Given the description of an element on the screen output the (x, y) to click on. 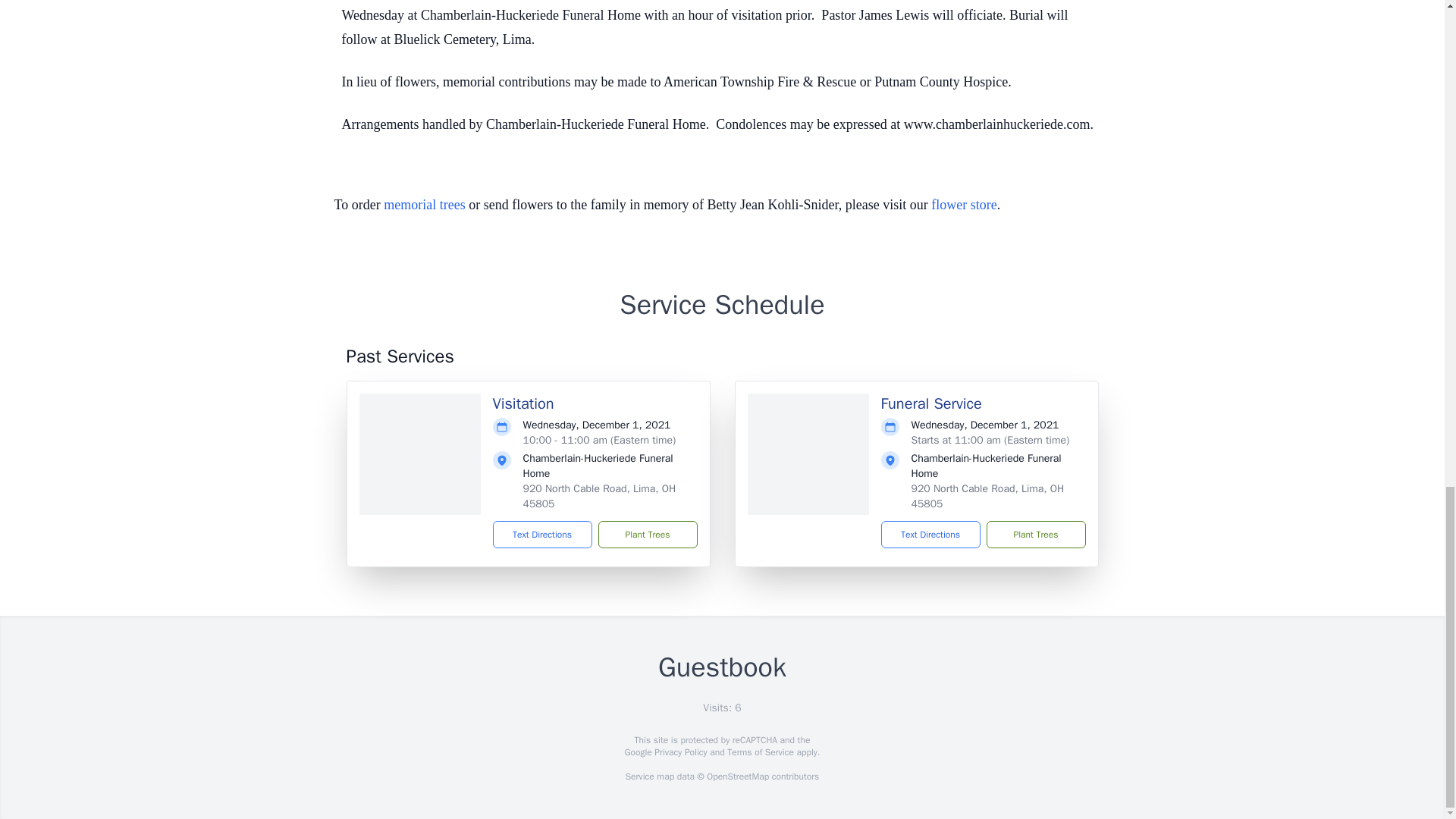
OpenStreetMap (737, 776)
Privacy Policy (679, 752)
Plant Trees (1034, 533)
Plant Trees (646, 533)
flower store (963, 204)
Terms of Service (759, 752)
Text Directions (542, 533)
Text Directions (929, 533)
memorial trees (424, 204)
920 North Cable Road, Lima, OH 45805 (599, 496)
920 North Cable Road, Lima, OH 45805 (987, 496)
